Given the description of an element on the screen output the (x, y) to click on. 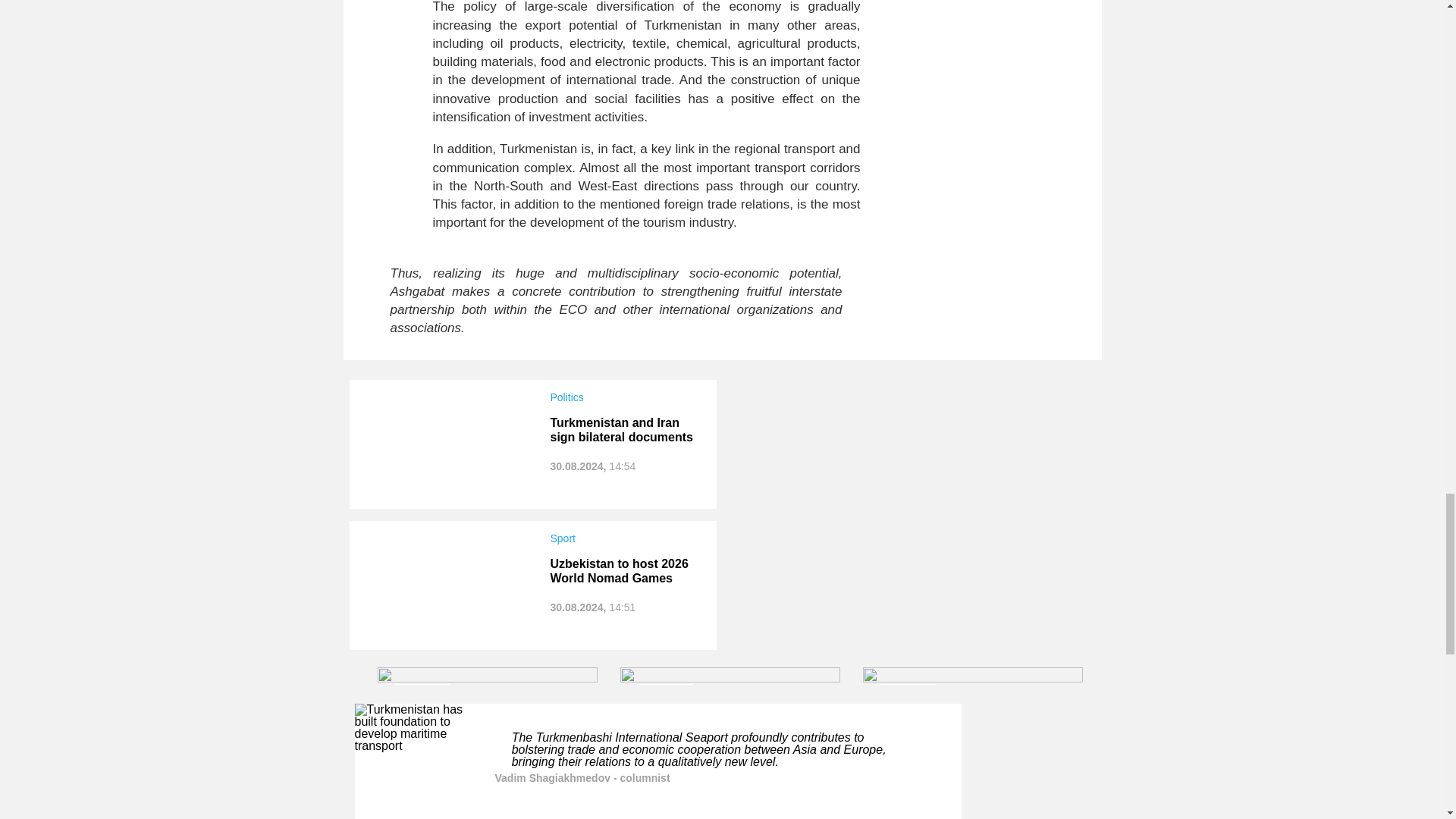
Turkmenistan and Iran sign bilateral documents (621, 429)
Uzbekistan to host 2026 World Nomad Games (619, 570)
Sport (626, 538)
Politics (626, 397)
